Given the description of an element on the screen output the (x, y) to click on. 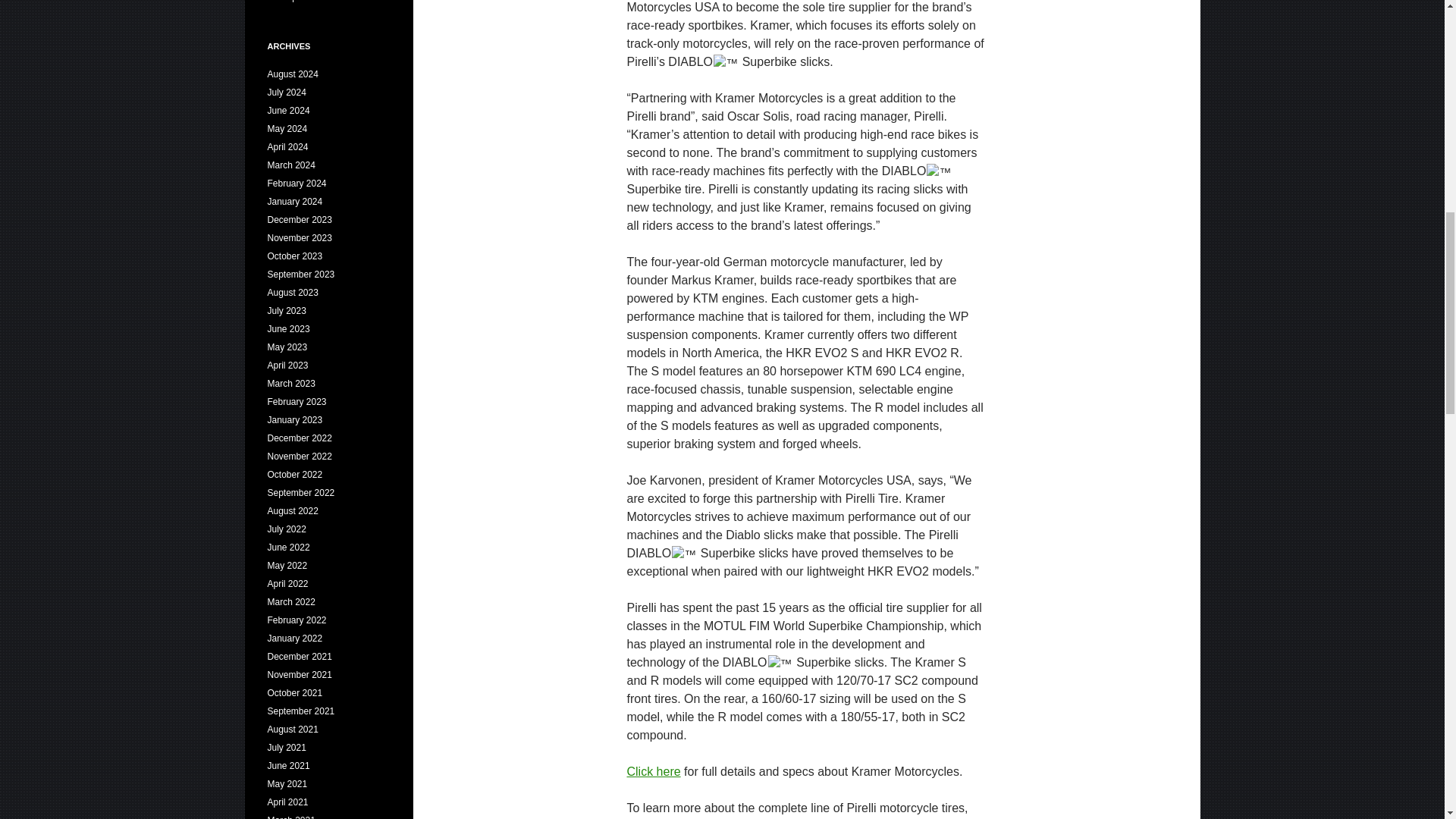
July 2024 (285, 91)
June 2024 (287, 110)
Click here (652, 771)
May 2024 (286, 128)
April 2024 (286, 146)
August 2024 (291, 73)
